Given the description of an element on the screen output the (x, y) to click on. 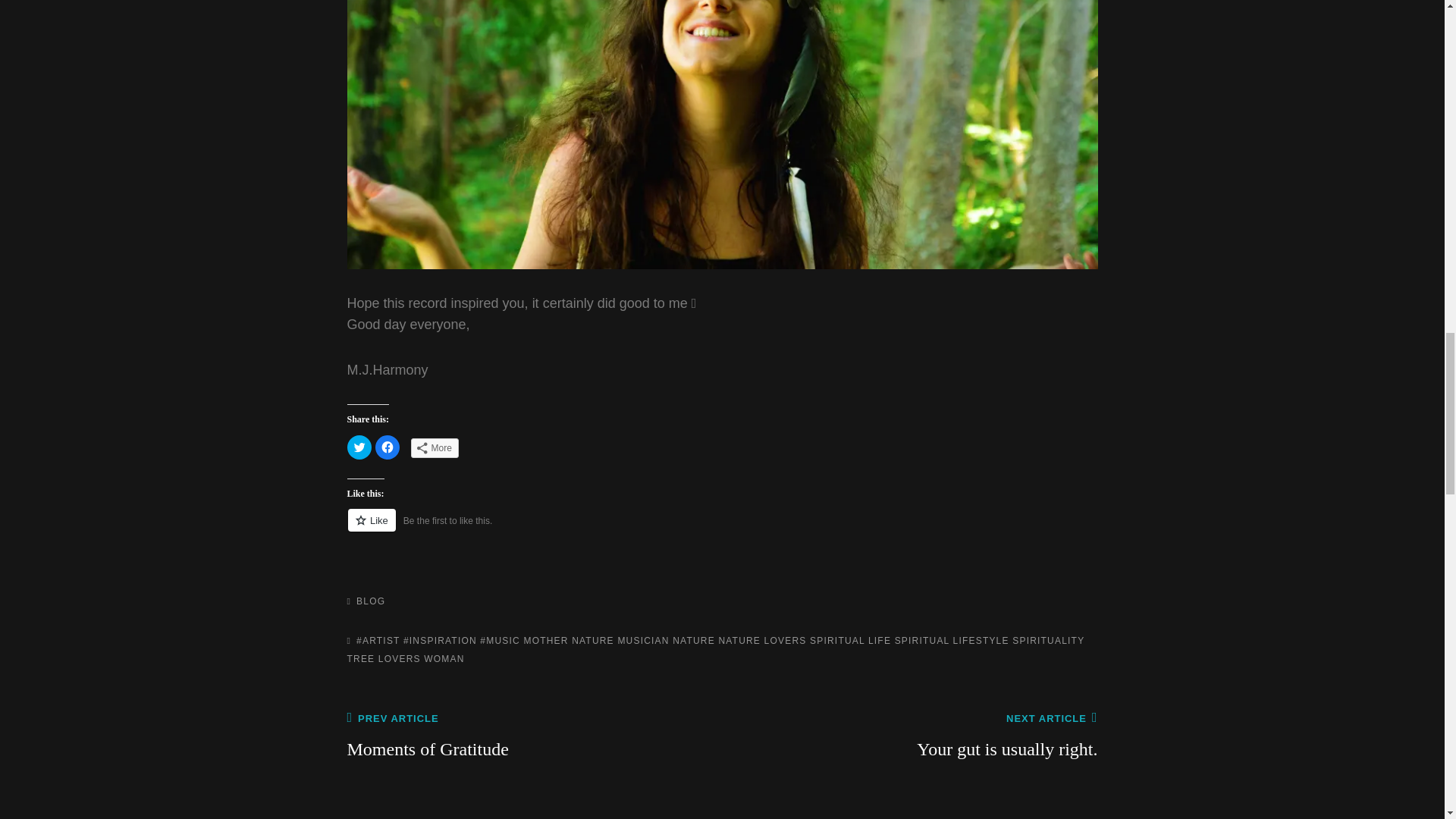
Click to share on Twitter (359, 446)
Like or Reblog (722, 528)
Click to share on Facebook (386, 446)
